Given the description of an element on the screen output the (x, y) to click on. 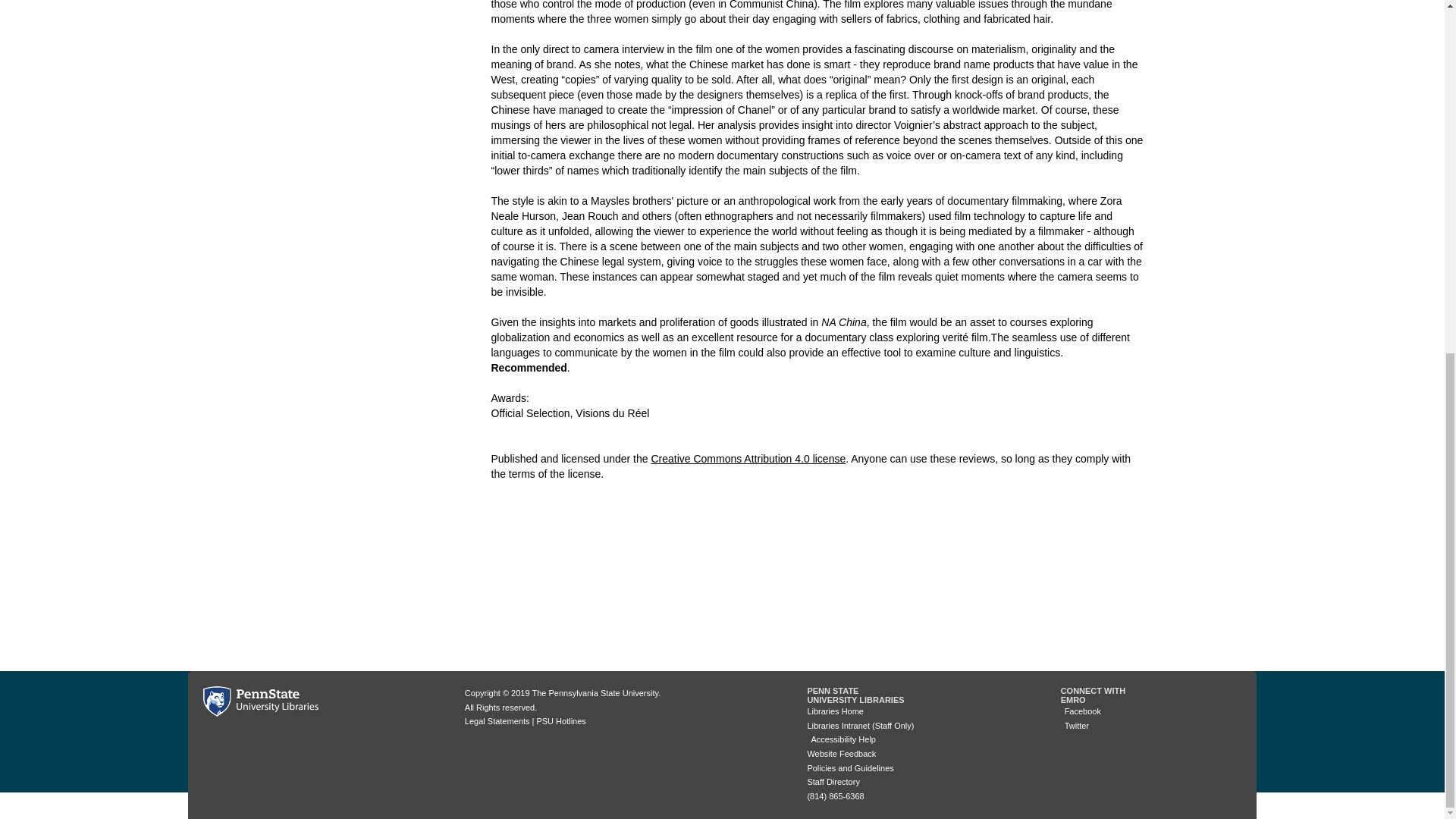
Libraries Home (834, 710)
PSU Hotlines (560, 720)
Policies and Guidelines (849, 768)
Accessibility Help (841, 738)
Facebook (1080, 710)
Staff Directory (833, 781)
Legal Statements (496, 720)
Website Feedback (841, 753)
Creative Commons Attribution 4.0 license (747, 458)
Twitter (1075, 725)
